Given the description of an element on the screen output the (x, y) to click on. 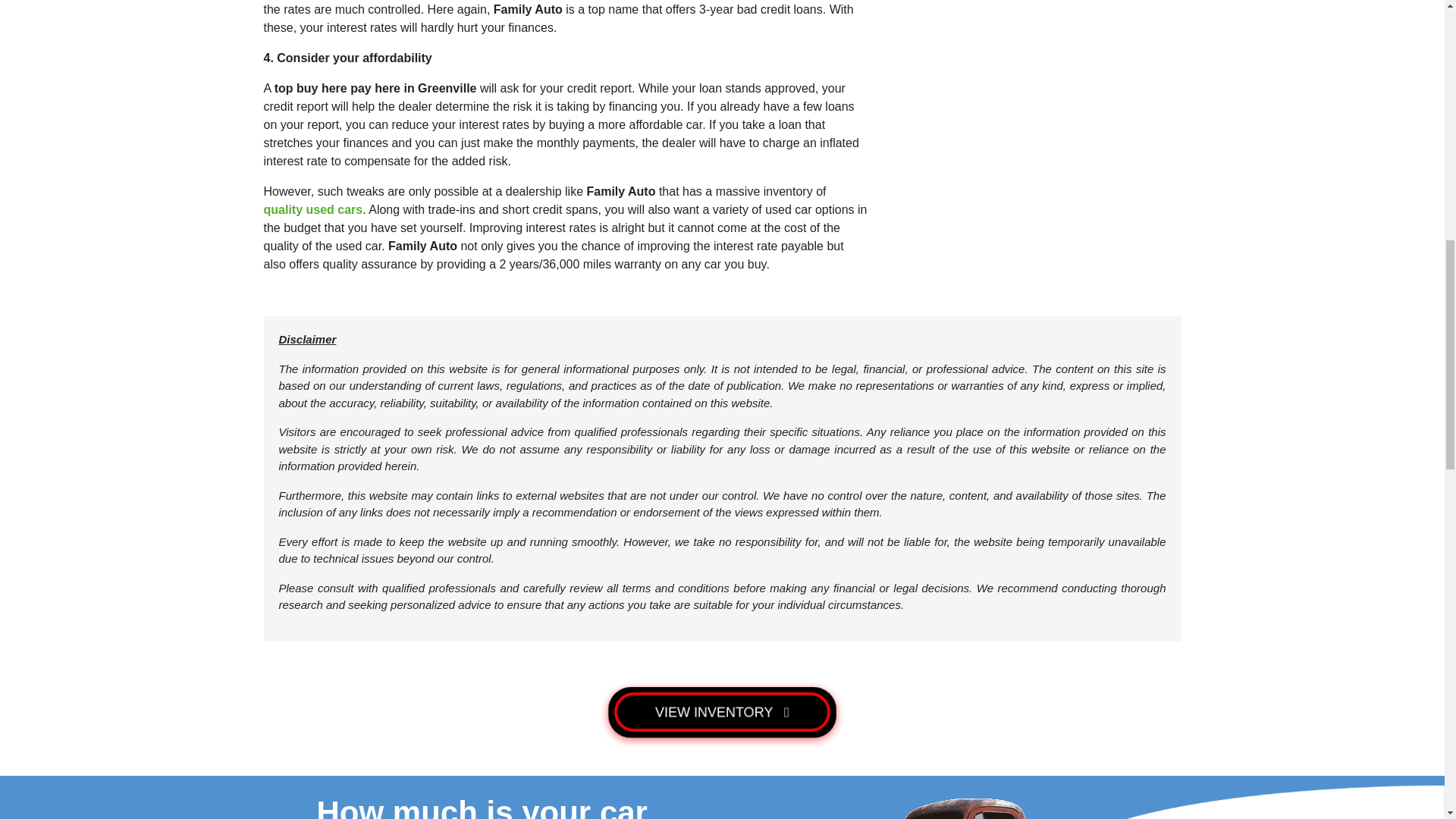
VIEW INVENTORY (721, 712)
quality used cars (312, 209)
